Given the description of an element on the screen output the (x, y) to click on. 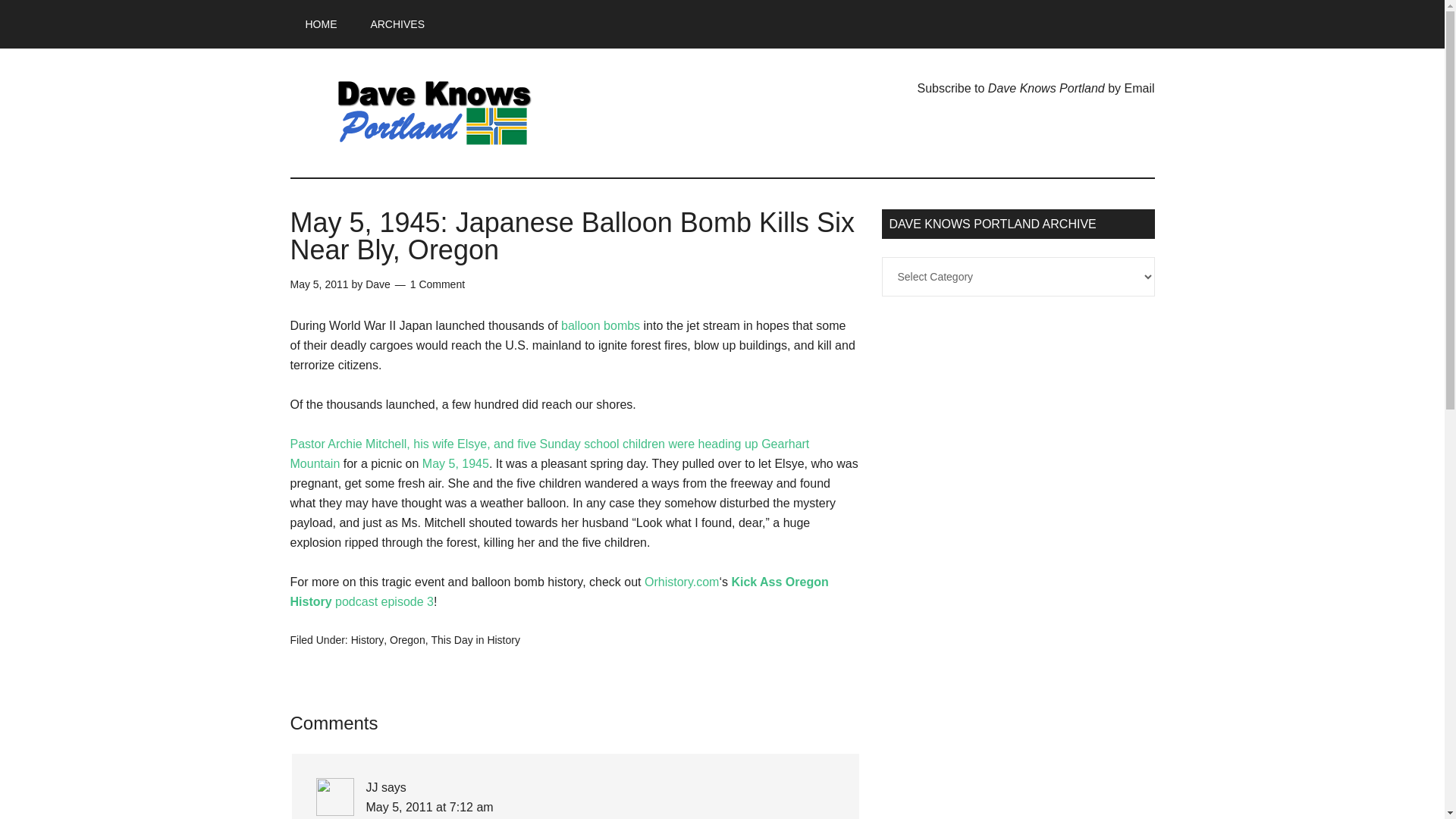
History (367, 639)
balloon bombs (600, 325)
Subscribe to Dave Knows Portland by Email (1035, 88)
Kick Ass Oregon History podcast episode 3 (558, 591)
May 5, 2011 at 7:12 am (429, 807)
Oregon (407, 639)
May 5, 1945 (455, 463)
This Day in History (474, 639)
Dave (377, 284)
ARCHIVES (397, 24)
HOME (320, 24)
Dave Knows Portland (433, 112)
1 Comment (437, 284)
Orhistory.com (682, 581)
